Given the description of an element on the screen output the (x, y) to click on. 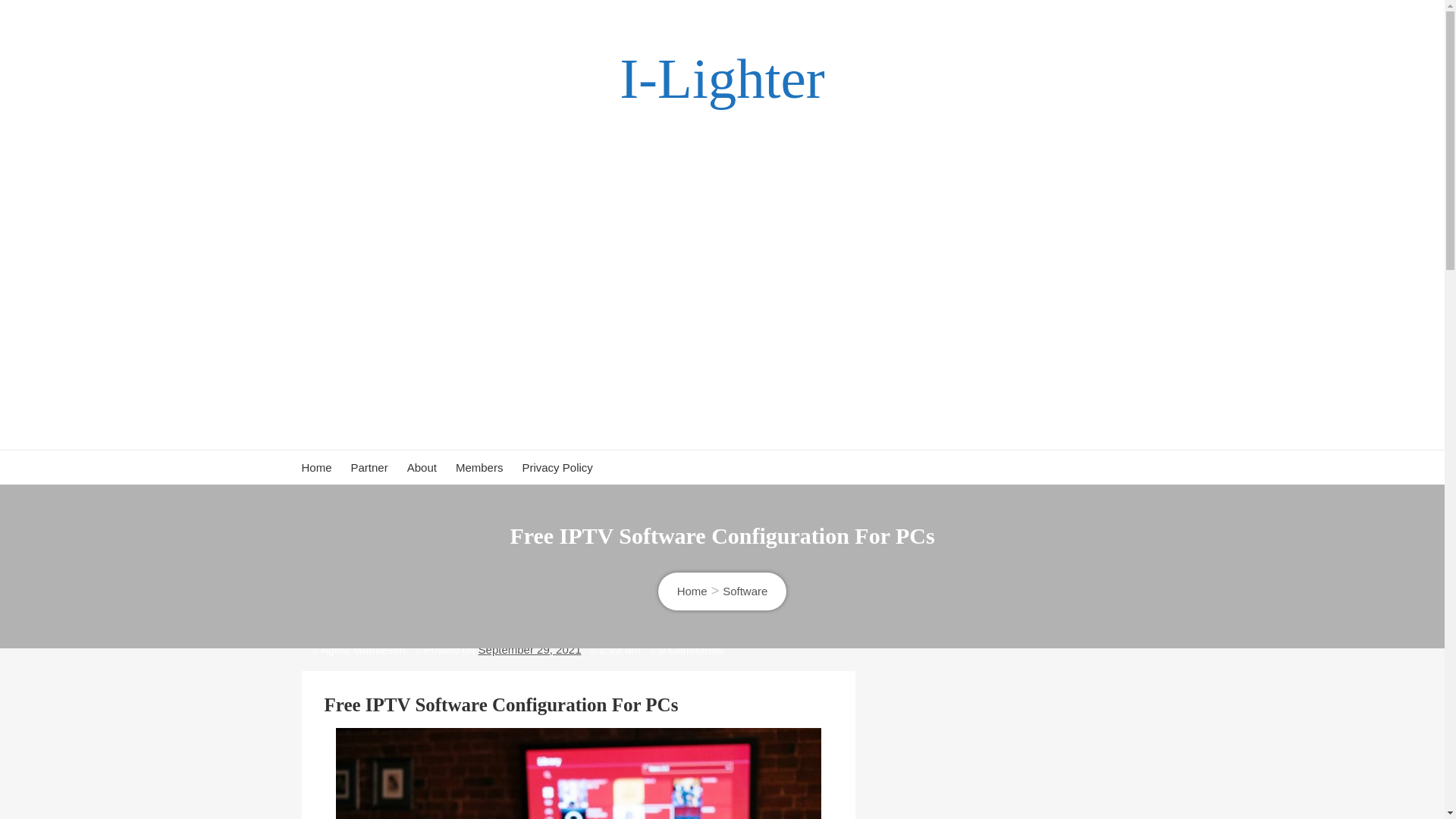
September 29, 2021 (529, 649)
About (421, 466)
Partner (369, 466)
Privacy Policy (556, 466)
Software (744, 590)
Home (316, 466)
About (421, 466)
Home (692, 590)
I-Lighter (722, 79)
Members (479, 466)
